Given the description of an element on the screen output the (x, y) to click on. 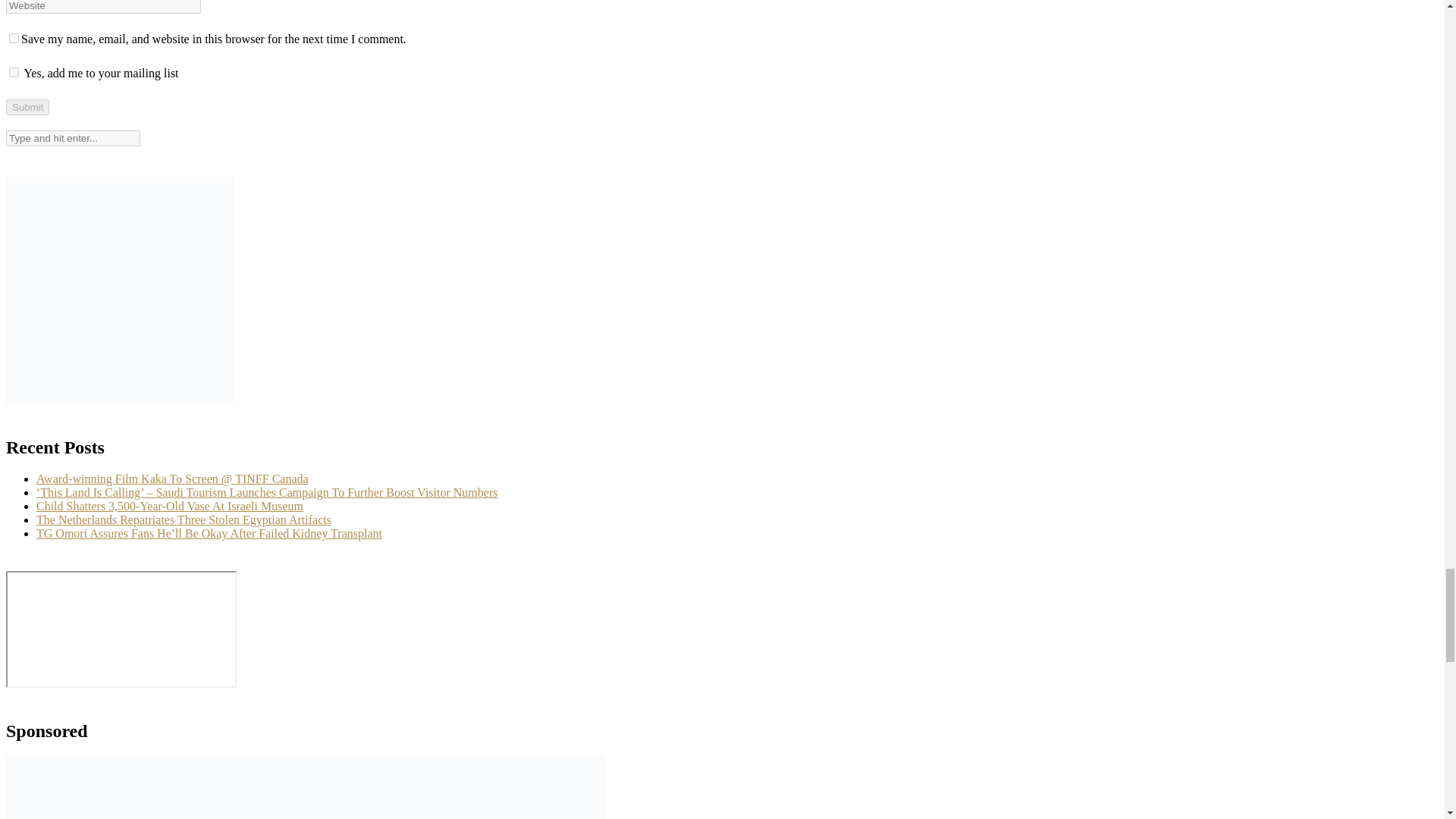
Submit (27, 107)
yes (13, 38)
1 (13, 71)
